Given the description of an element on the screen output the (x, y) to click on. 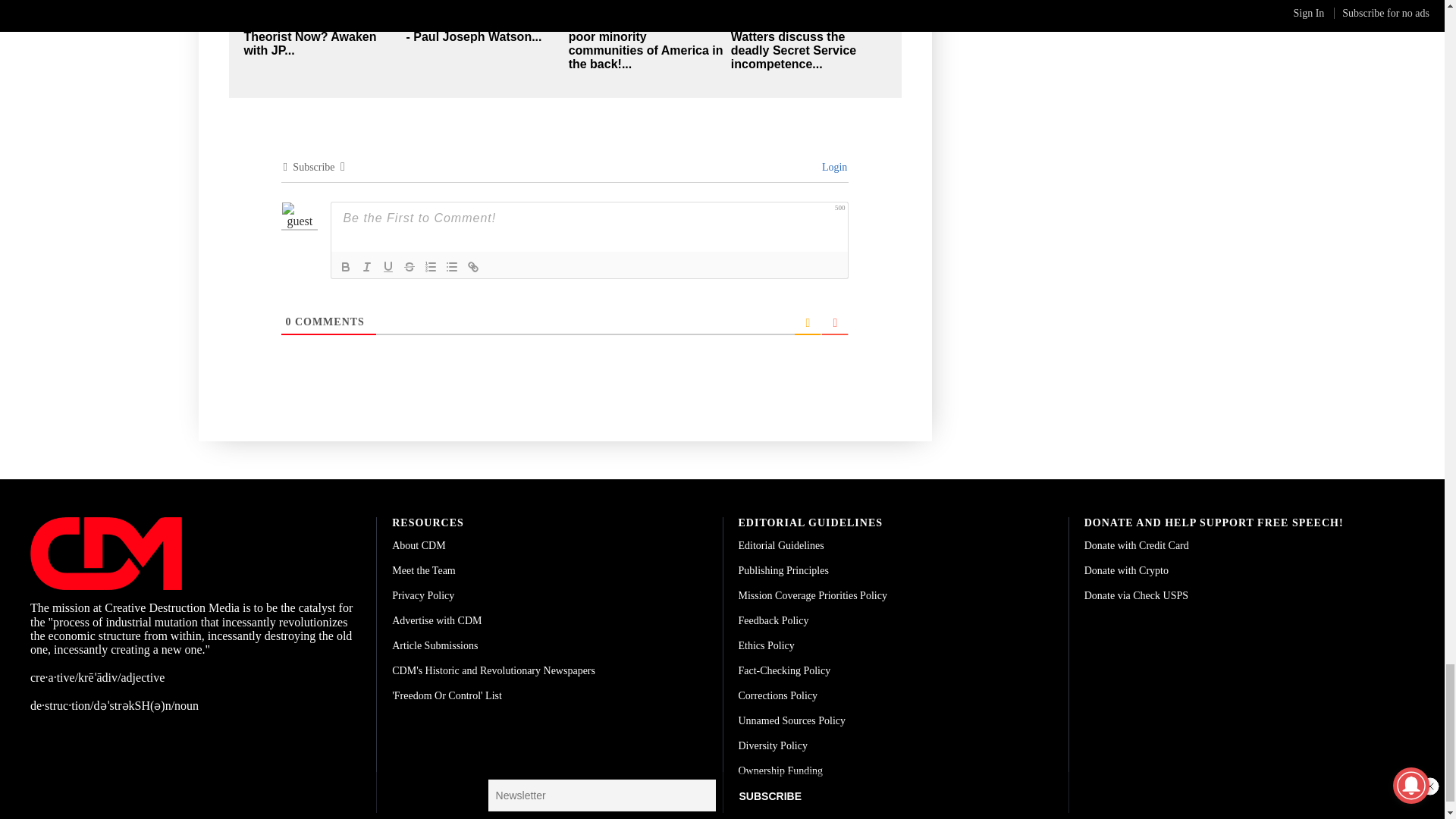
Strike (409, 266)
Italic (366, 266)
Underline (387, 266)
Unordered List (452, 266)
Ordered List (430, 266)
Bold (345, 266)
Link (473, 266)
